Given the description of an element on the screen output the (x, y) to click on. 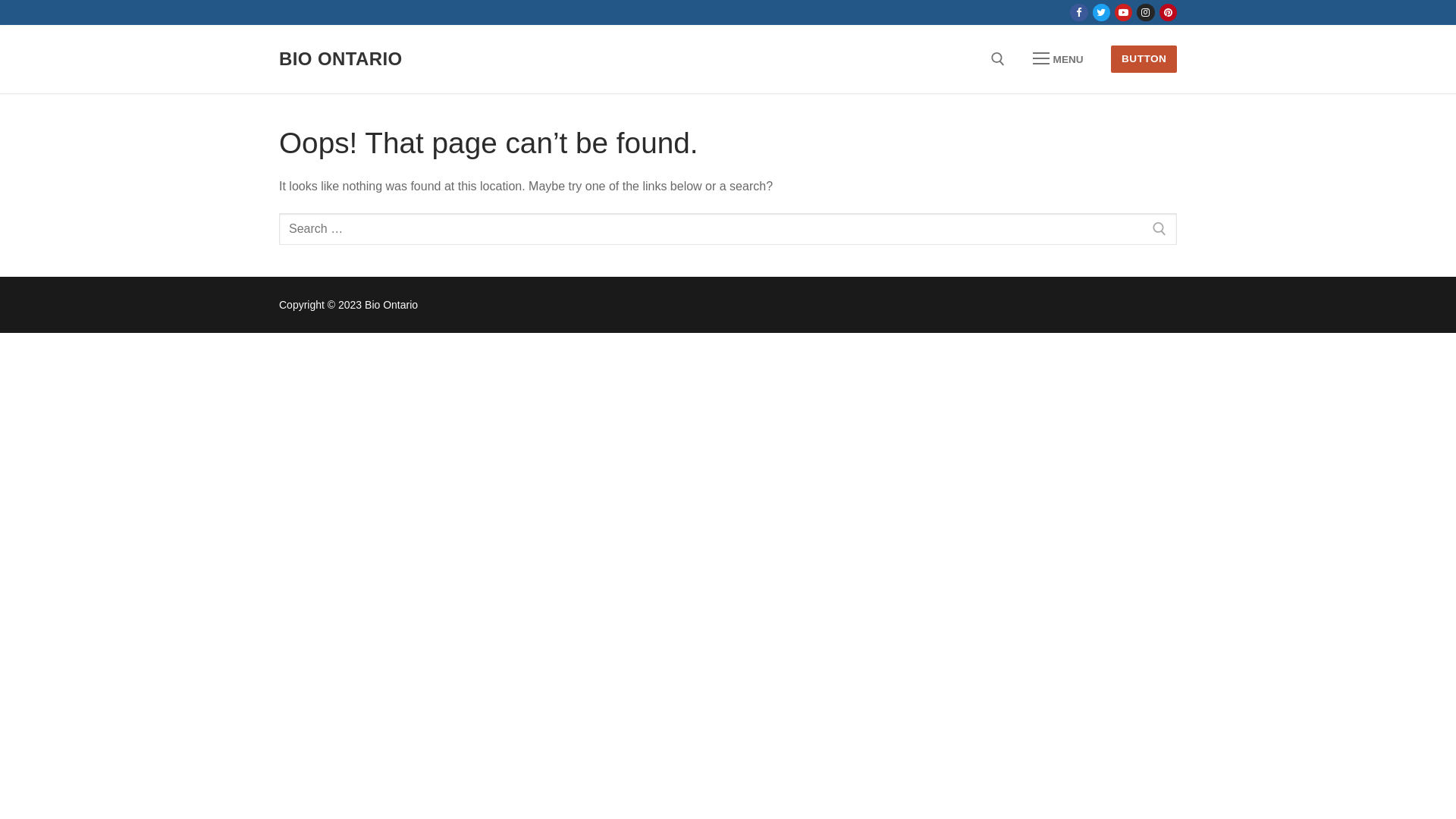
Instagram Element type: hover (1145, 12)
Facebook Element type: hover (1078, 12)
BUTTON Element type: text (1143, 59)
MENU Element type: text (1057, 59)
Search for: Element type: hover (727, 228)
BIO ONTARIO Element type: text (340, 58)
Youtube Element type: hover (1123, 12)
Twitter Element type: hover (1101, 12)
Pinterest Element type: hover (1168, 12)
